Given the description of an element on the screen output the (x, y) to click on. 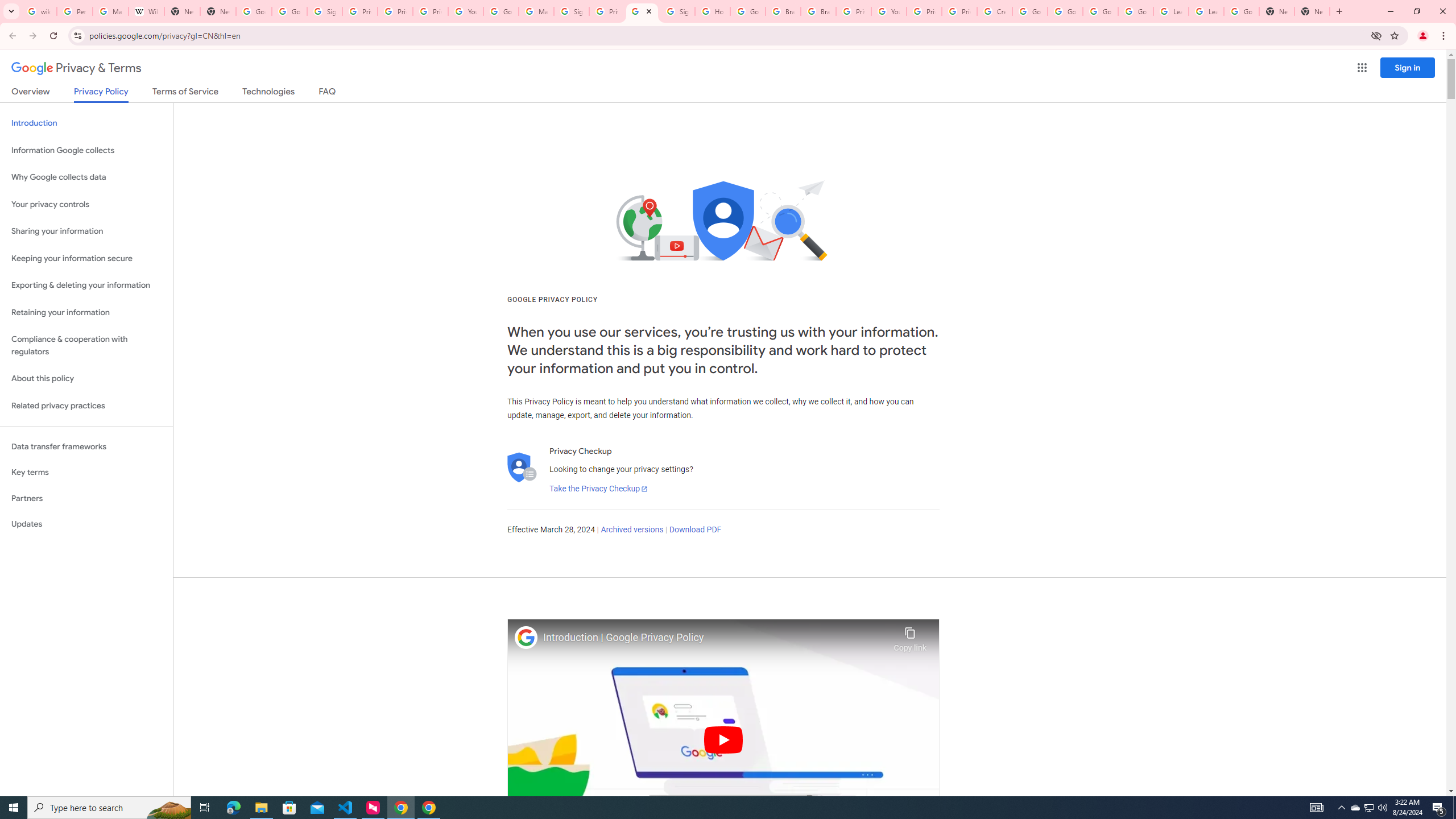
Brand Resource Center (817, 11)
Take the Privacy Checkup (597, 488)
Brand Resource Center (783, 11)
Google Account Help (501, 11)
Google Account Help (1064, 11)
Play (723, 739)
